Given the description of an element on the screen output the (x, y) to click on. 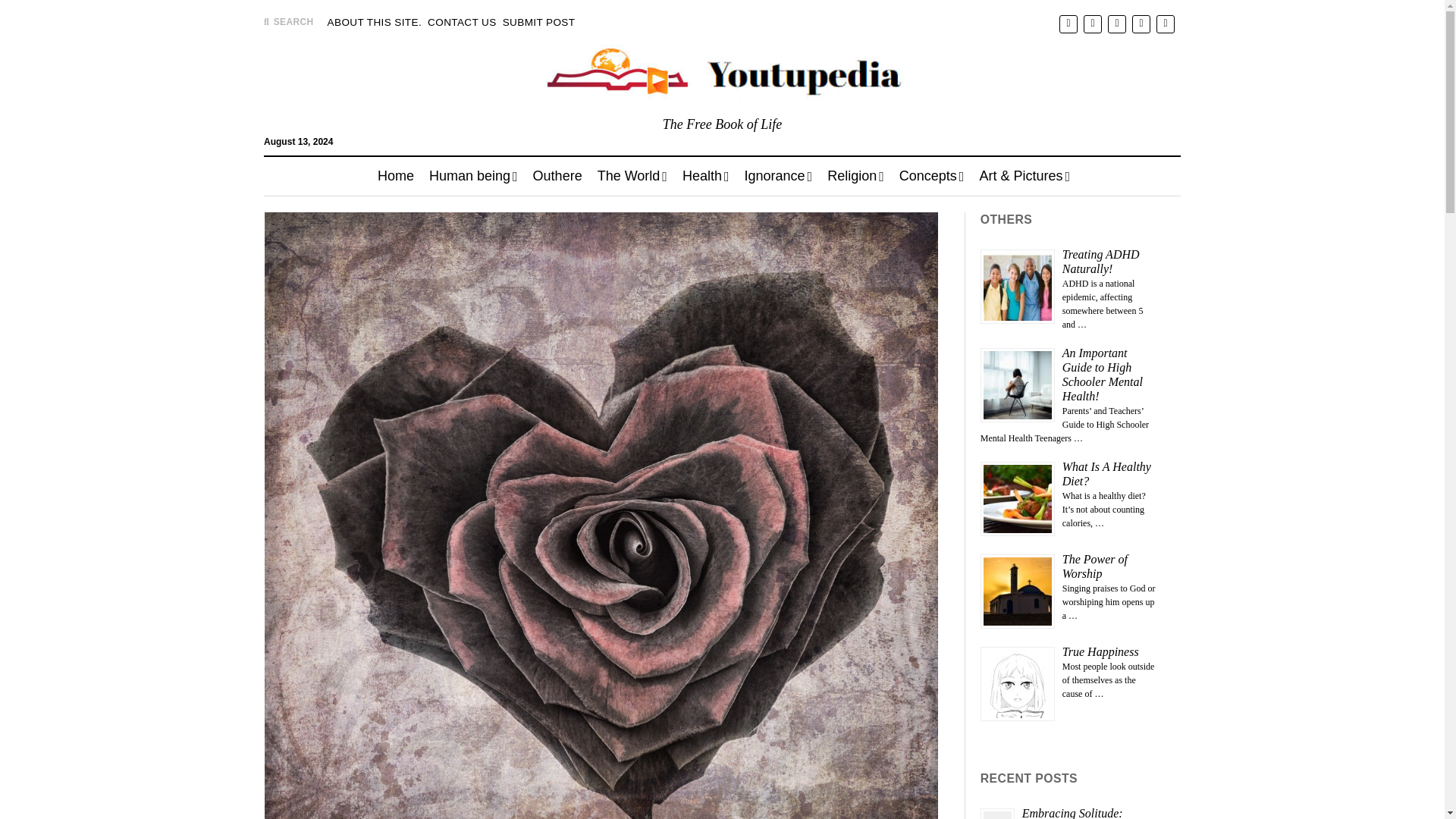
Search (943, 141)
SUBMIT POST (538, 22)
Religion (855, 176)
CONTACT US (462, 22)
Health (705, 176)
Home (395, 176)
Human being (473, 176)
Ignorance (778, 176)
The World (632, 176)
Outhere (557, 176)
